Given the description of an element on the screen output the (x, y) to click on. 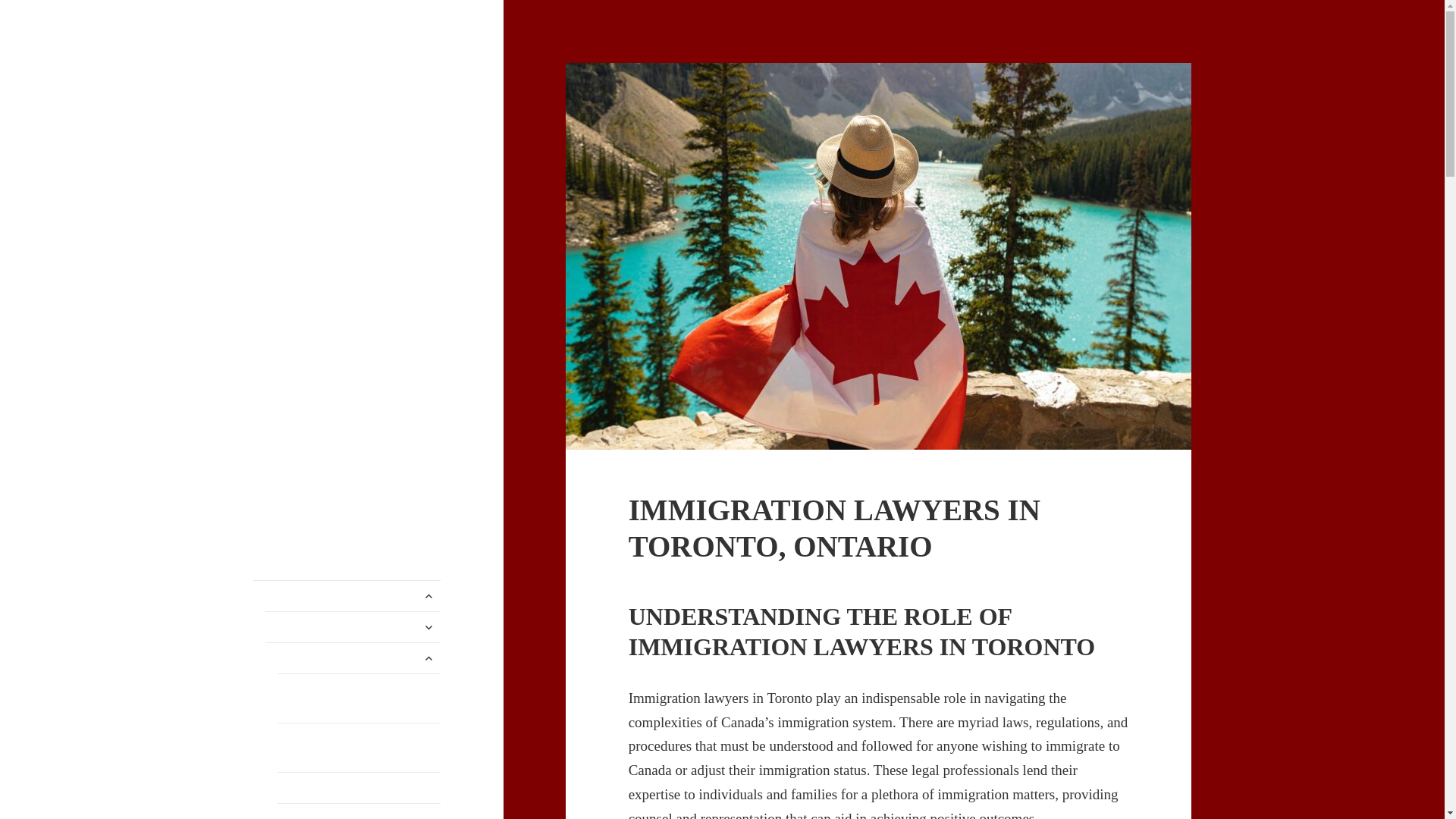
Immigration Lawyers in Canada (346, 86)
expand child menu (428, 595)
Home (347, 595)
Practice Areas (352, 626)
expand child menu (428, 627)
